Given the description of an element on the screen output the (x, y) to click on. 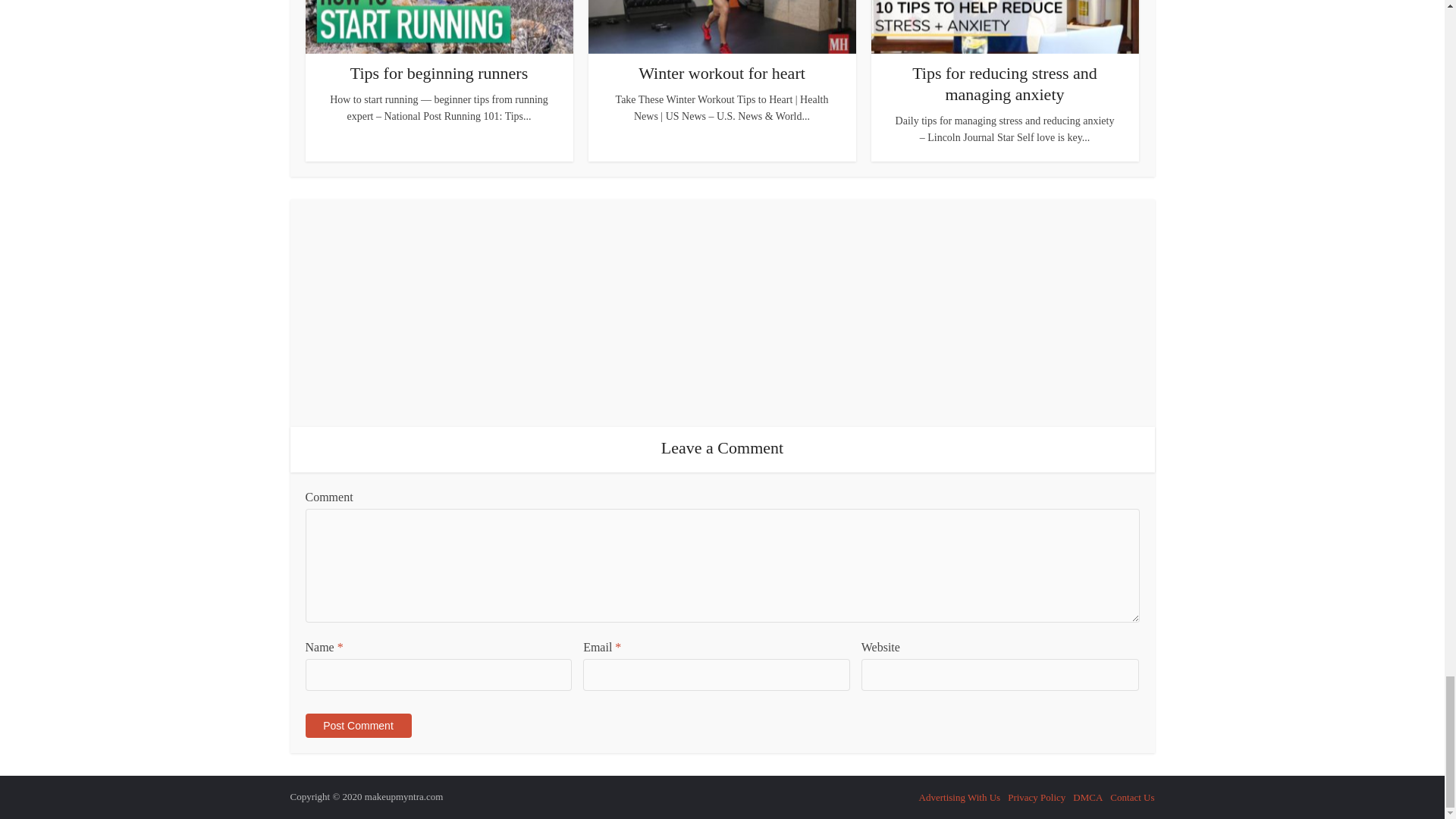
Post Comment (357, 724)
Winter workout for heart (722, 72)
Tips for reducing stress and managing anxiety (1004, 83)
Advertising With Us (959, 797)
DMCA (1087, 797)
Tips for reducing stress and managing anxiety (1004, 83)
Tips for beginning runners (438, 72)
Contact Us (1131, 797)
Tips for beginning runners (438, 72)
Winter workout for heart (722, 72)
